Given the description of an element on the screen output the (x, y) to click on. 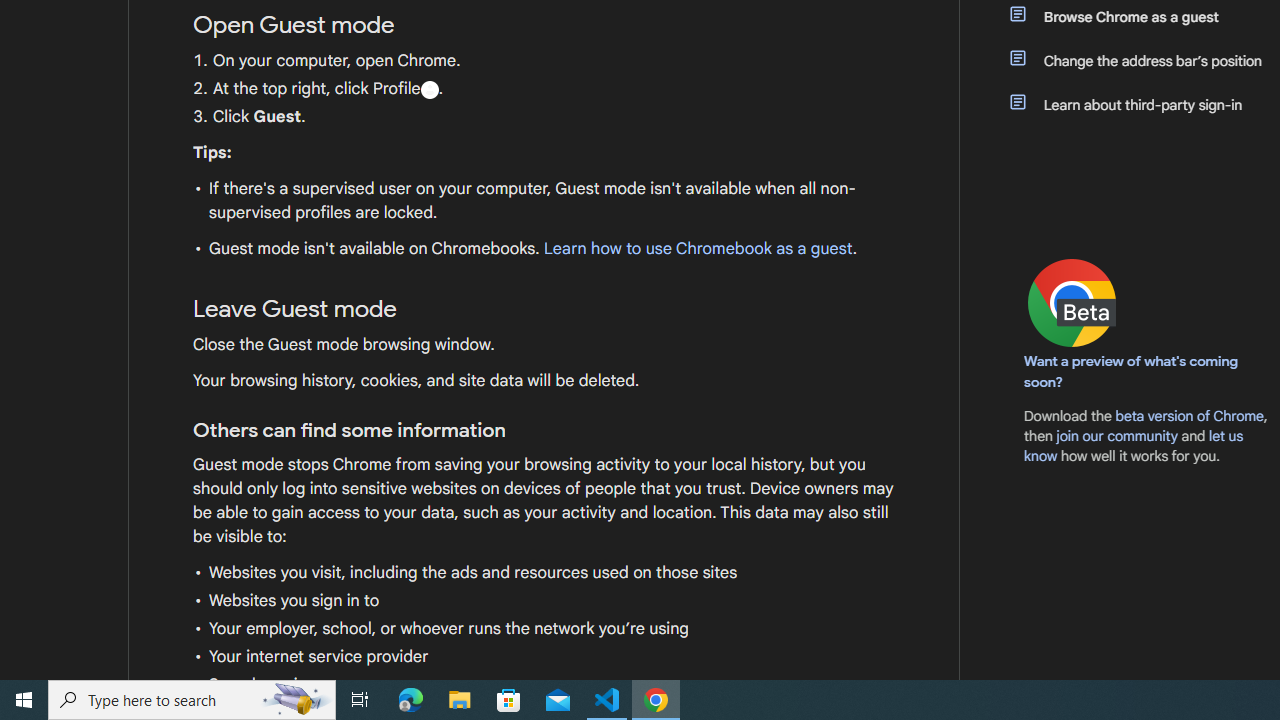
beta version of Chrome (1189, 415)
Profile (429, 89)
Learn how to use Chromebook as a guest (697, 249)
Chrome Beta logo (1072, 302)
let us know (1134, 445)
Want a preview of what's coming soon? (1131, 371)
join our community (1116, 435)
